Given the description of an element on the screen output the (x, y) to click on. 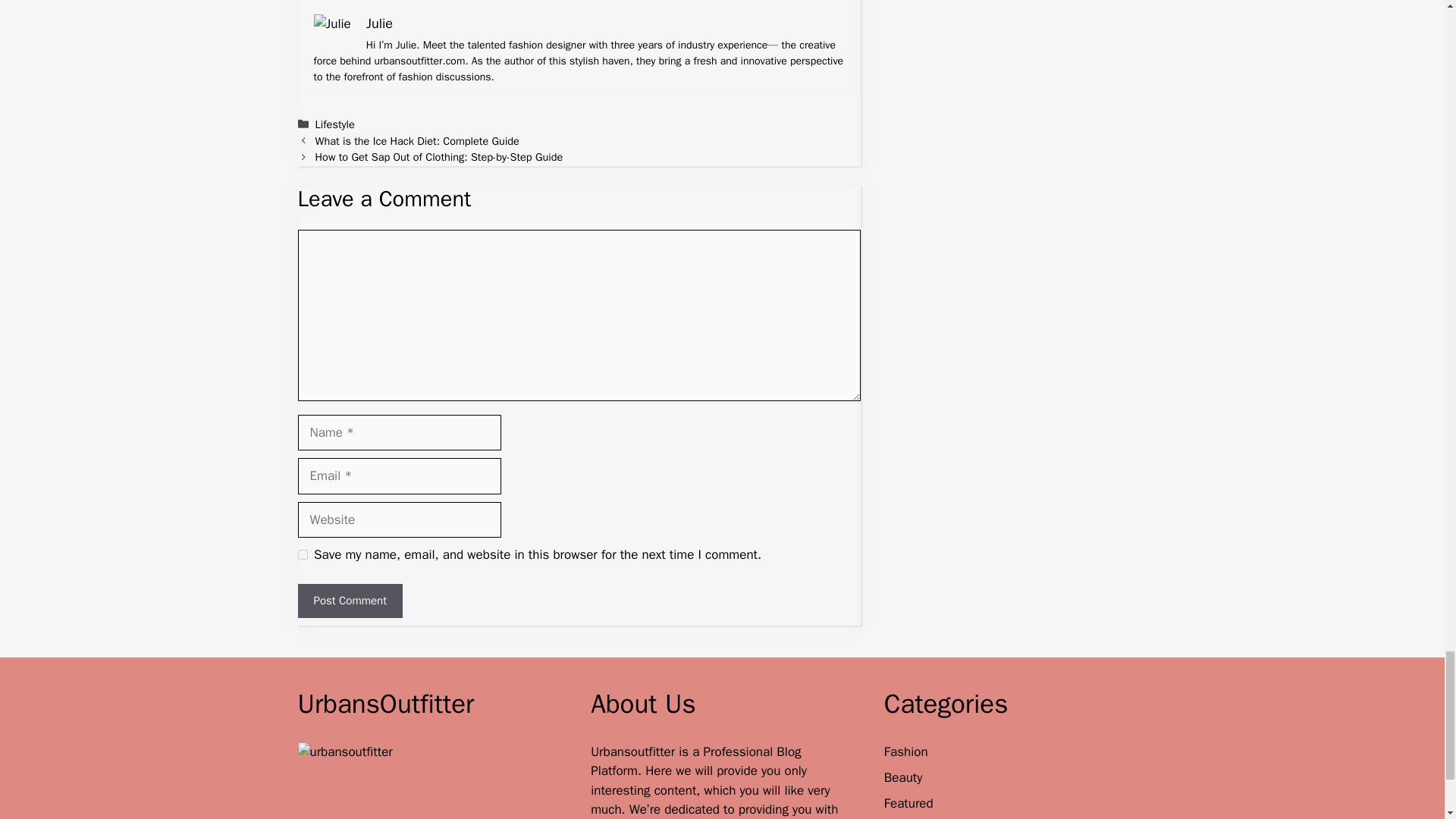
Featured (908, 803)
Fashion (905, 751)
Lifestyle (335, 124)
What is the Ice Hack Diet: Complete Guide (417, 141)
Urbansoutfitter  (634, 751)
yes (302, 554)
Post Comment (349, 600)
Julie (379, 23)
Post Comment (349, 600)
How to Get Sap Out of Clothing: Step-by-Step Guide (439, 156)
